Given the description of an element on the screen output the (x, y) to click on. 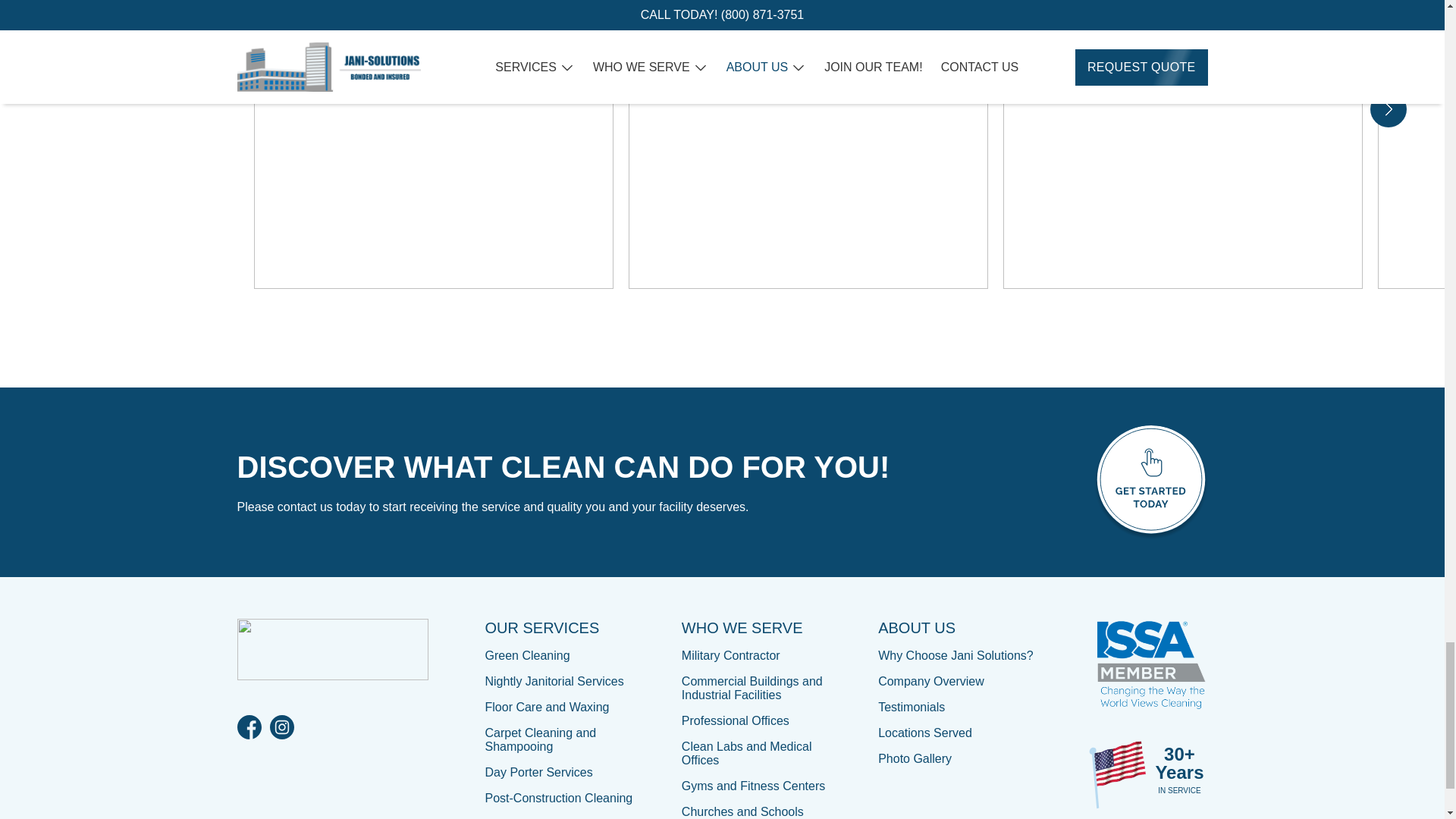
Nightly Janitorial Services (554, 681)
OUR SERVICES (541, 628)
Request Quote (1150, 481)
Next (1388, 108)
Green Cleaning (527, 655)
